Given the description of an element on the screen output the (x, y) to click on. 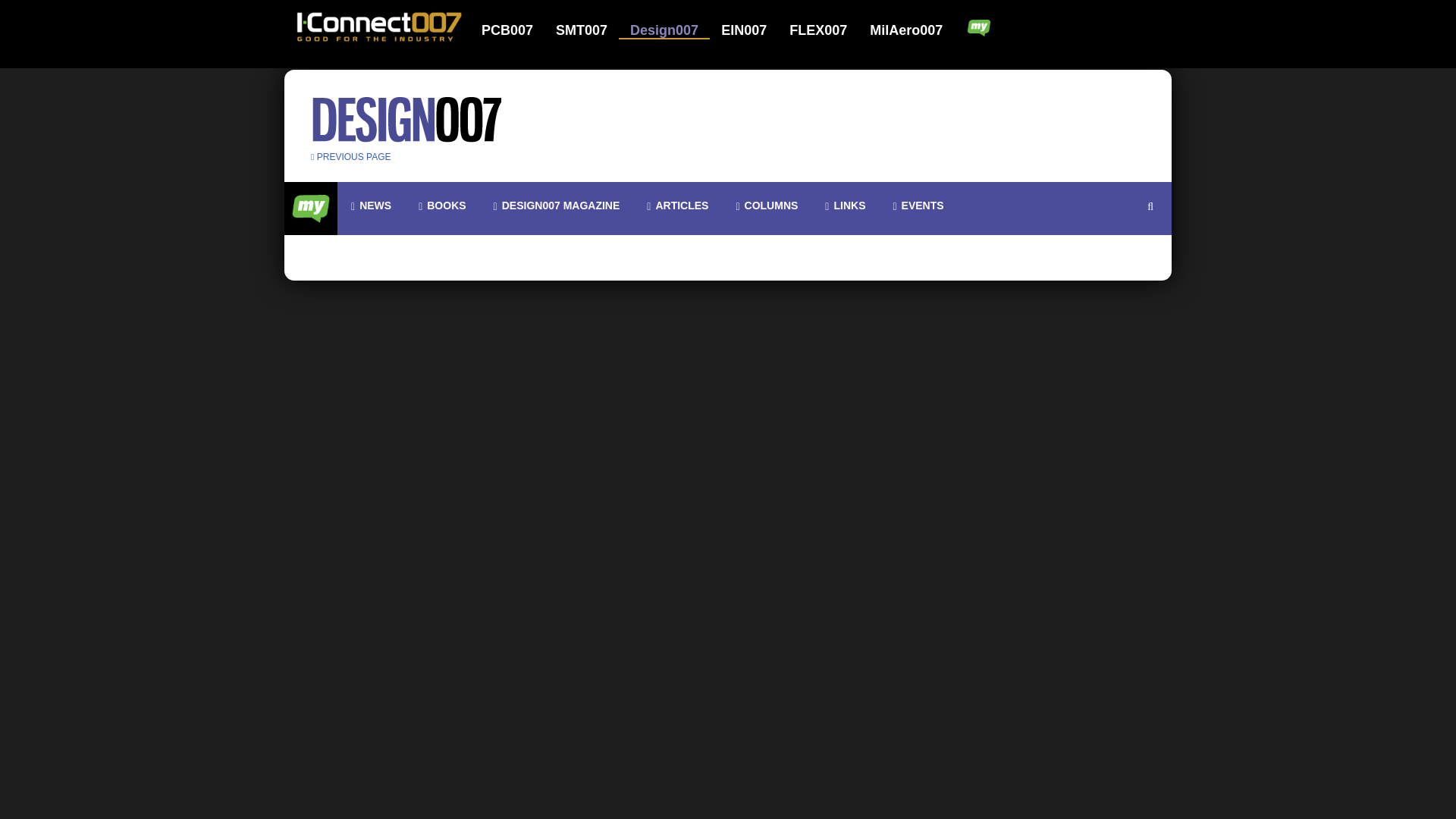
MilAero007 (907, 30)
DESIGN007 MAGAZINE (556, 205)
BOOKS (441, 205)
PCB007 (516, 30)
NEWS (370, 205)
EIN007 (753, 30)
Design007 (673, 30)
SMT007 (590, 30)
PREVIOUS PAGE (351, 156)
FLEX007 (827, 30)
